Given the description of an element on the screen output the (x, y) to click on. 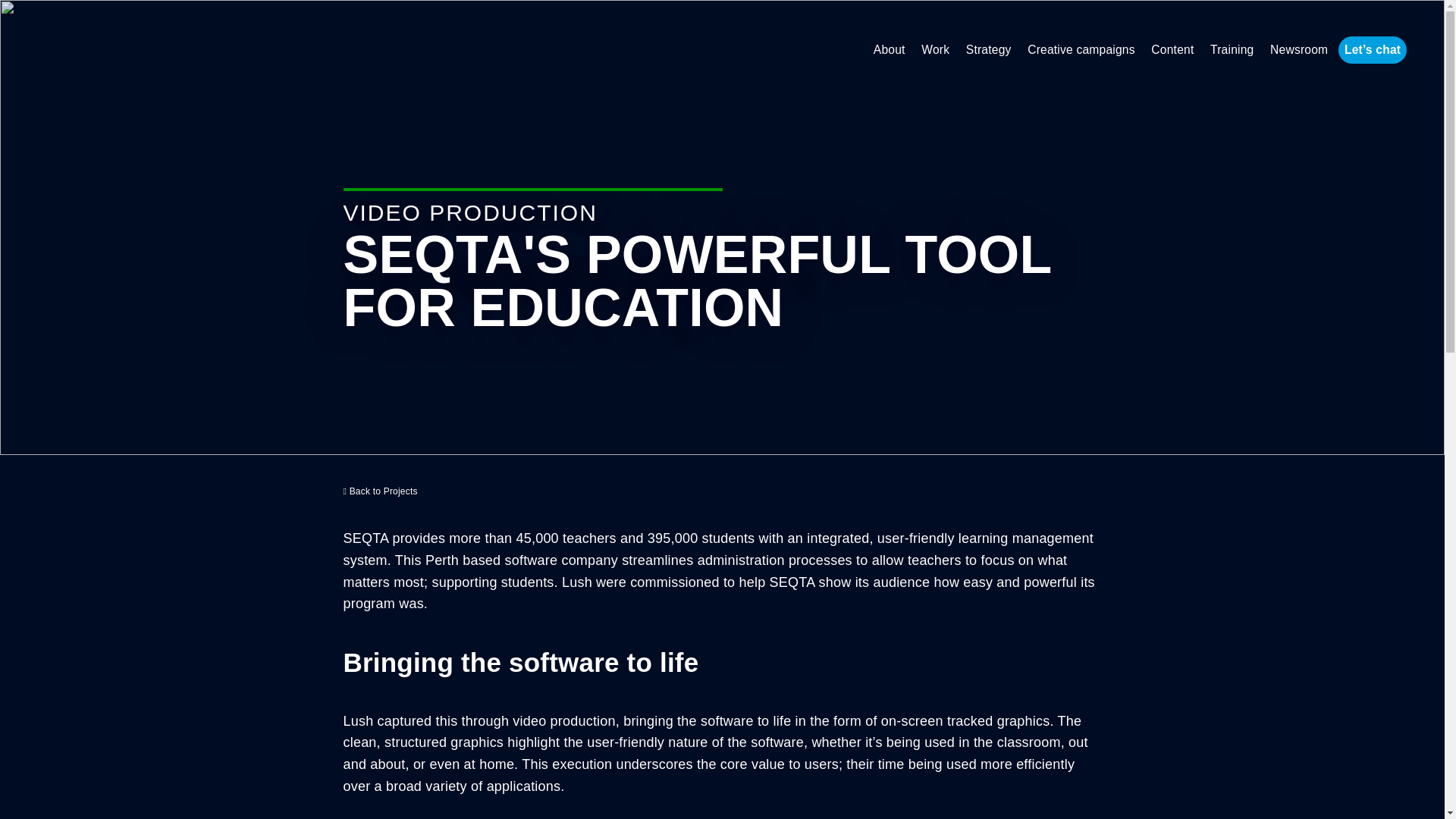
Content (1172, 49)
Creative campaigns (1081, 49)
Training (1231, 49)
Work (935, 49)
Newsroom (1298, 49)
About (889, 49)
Strategy (988, 49)
Back to Projects (379, 491)
